Given the description of an element on the screen output the (x, y) to click on. 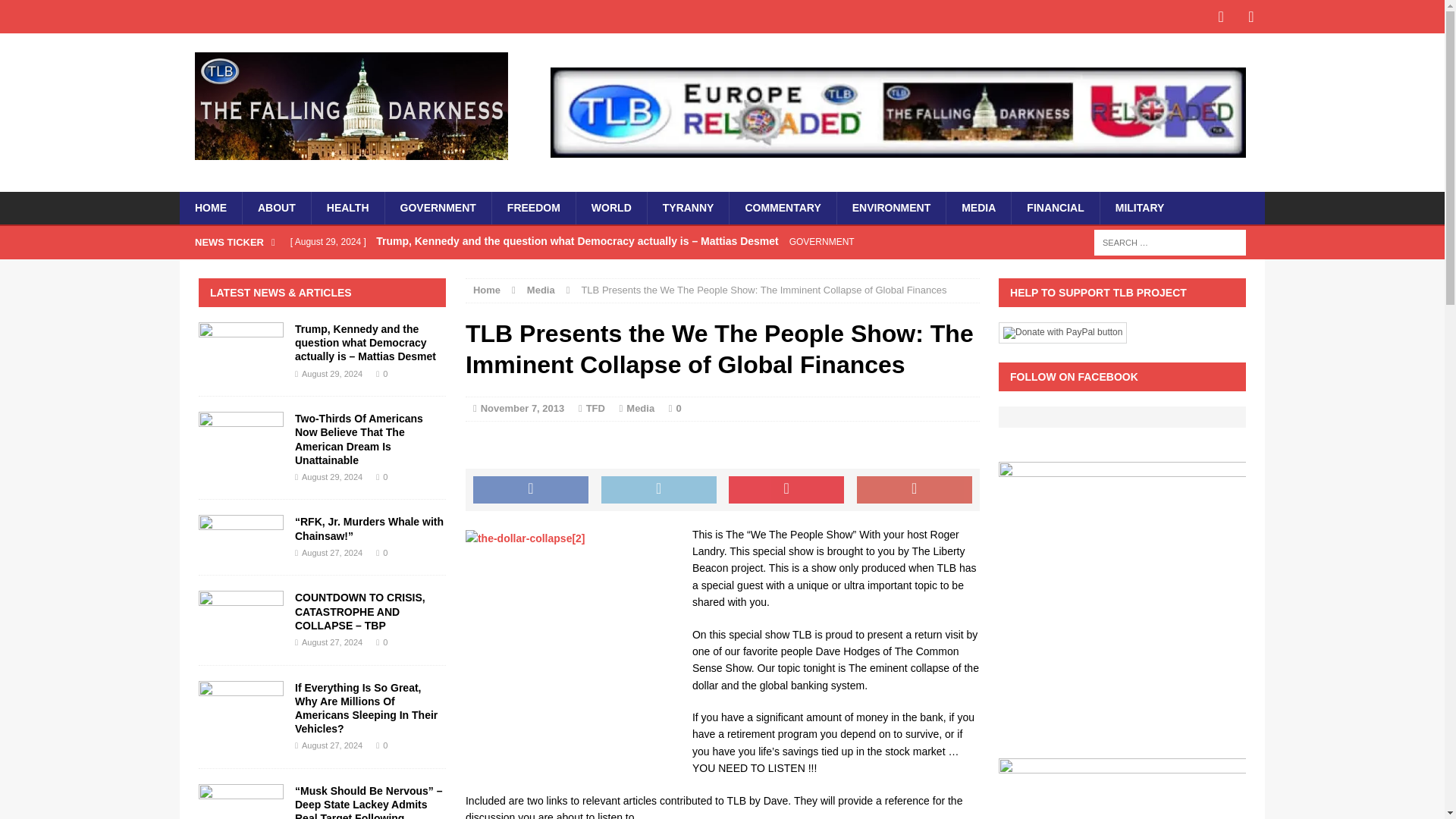
Search (37, 11)
GOVERNMENT (438, 207)
FINANCIAL (1054, 207)
ABOUT (276, 207)
FREEDOM (533, 207)
Media (540, 289)
MEDIA (977, 207)
HOME (210, 207)
The Falling Darkness (350, 106)
TYRANNY (687, 207)
